Given the description of an element on the screen output the (x, y) to click on. 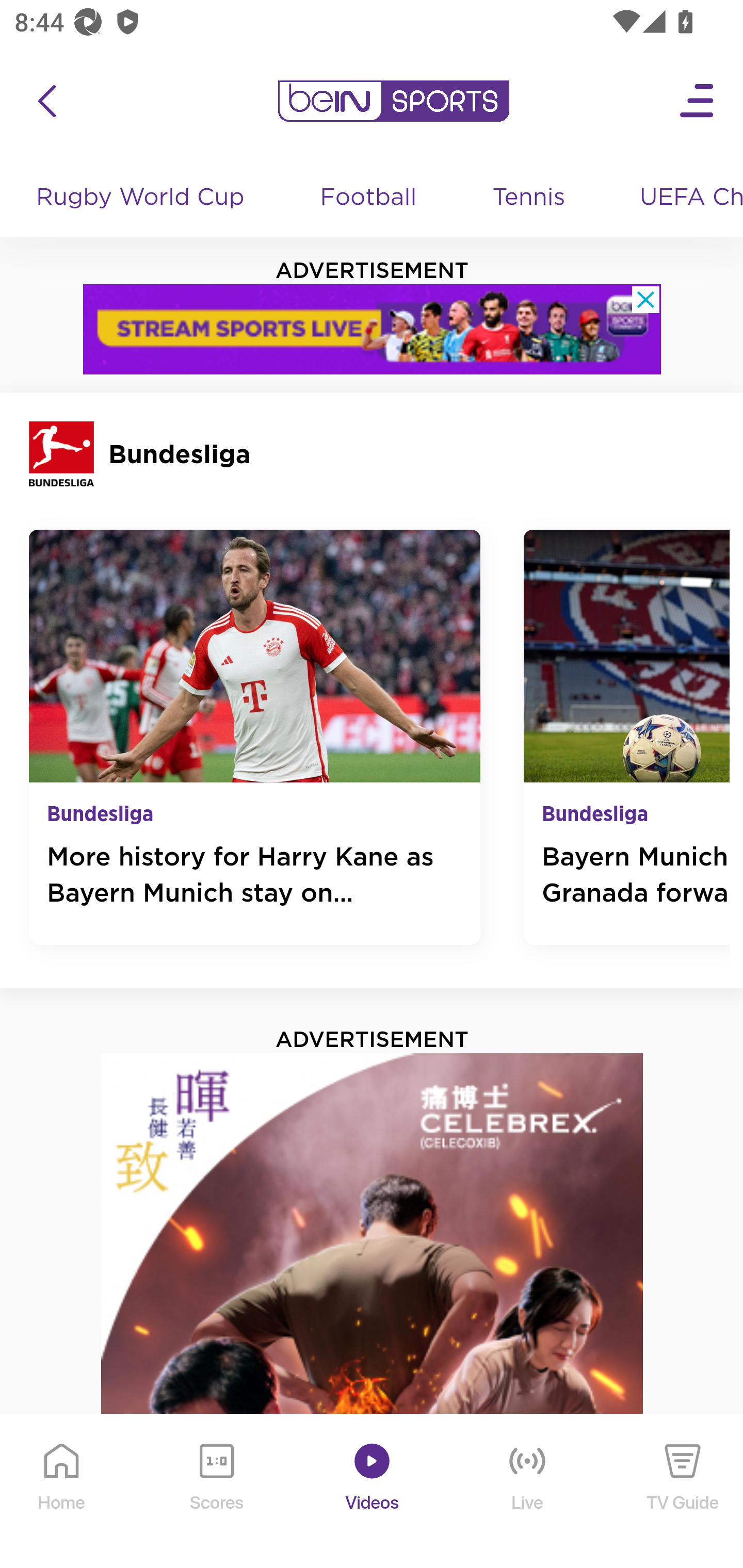
en-my?platform=mobile_android bein logo (392, 101)
icon back (46, 101)
Open Menu Icon (697, 101)
Rugby World Cup (142, 198)
Football (369, 198)
Tennis (530, 198)
UEFA Champions League (683, 198)
Advertisement (372, 1310)
Home Home Icon Home (61, 1491)
Scores Scores Icon Scores (216, 1491)
Videos Videos Icon Videos (372, 1491)
TV Guide TV Guide Icon TV Guide (682, 1491)
